Given the description of an element on the screen output the (x, y) to click on. 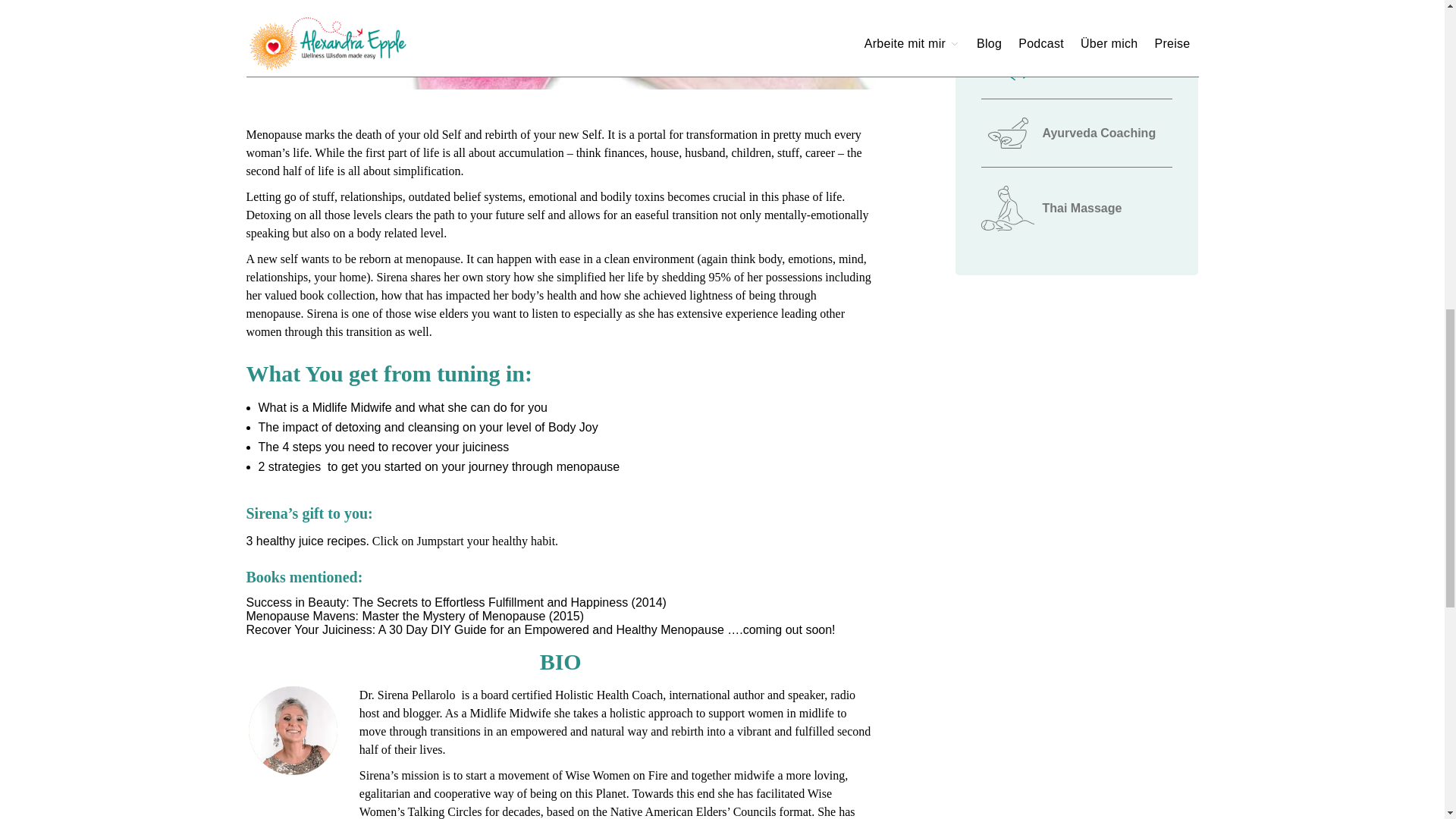
3 healthy juice recipes (305, 540)
Ayurveda Coaching (1076, 133)
Body Joy (573, 427)
Thai Massage (1076, 208)
Yoga (1076, 53)
Life Coaching (1076, 4)
